Given the description of an element on the screen output the (x, y) to click on. 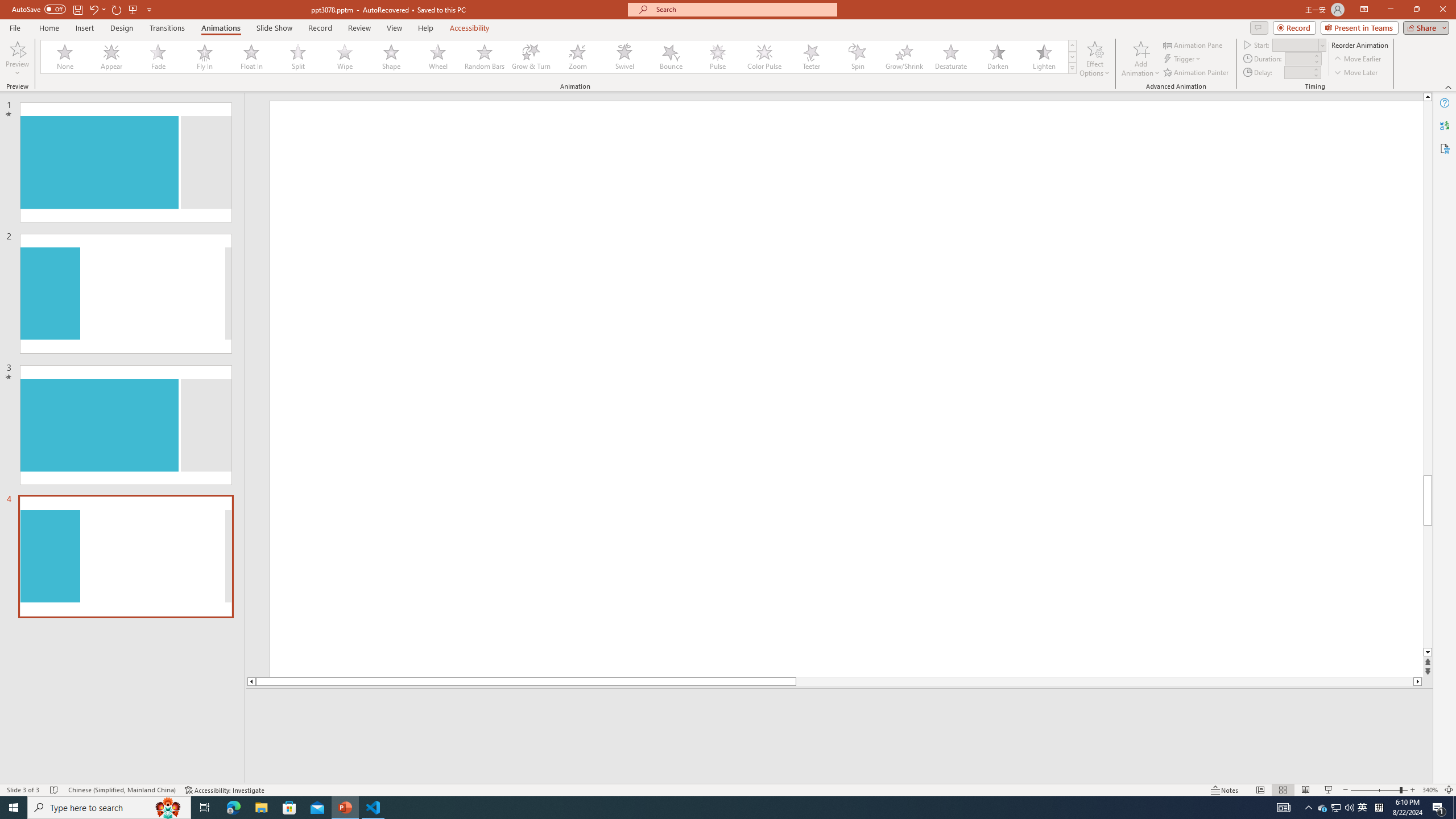
Appear (111, 56)
Slide Sorter (1282, 790)
Line up (1427, 96)
Review (359, 28)
Undo (96, 9)
Design (122, 28)
Zoom 340% (1430, 790)
Slide Show (1328, 790)
Home (48, 28)
Start (1299, 44)
From Beginning (133, 9)
Swivel (624, 56)
Random Bars (484, 56)
